Given the description of an element on the screen output the (x, y) to click on. 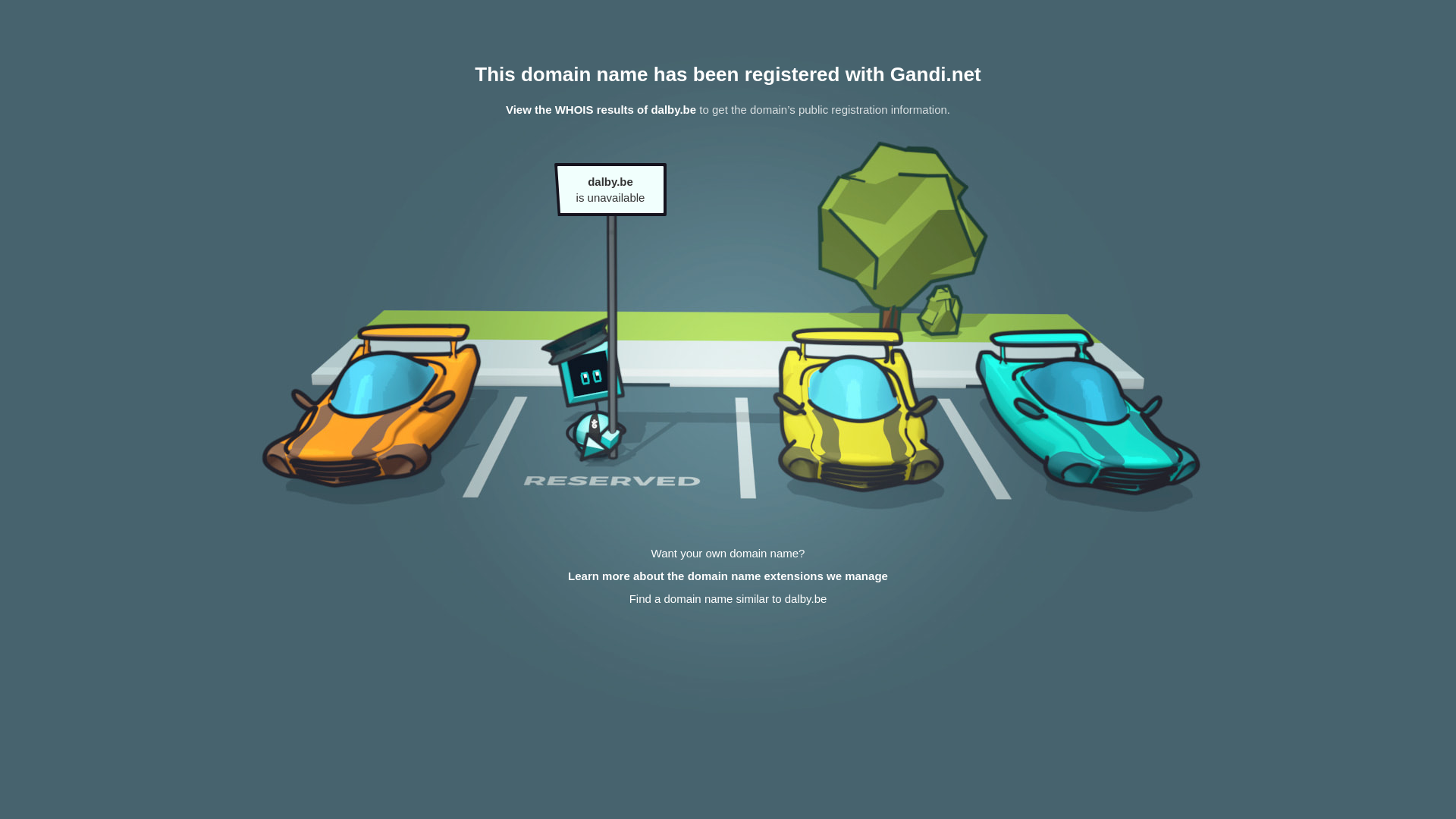
Learn more about the domain name extensions we manage Element type: text (727, 575)
Find a domain name similar to dalby.be Element type: text (728, 598)
View the WHOIS results of dalby.be Element type: text (600, 109)
